Given the description of an element on the screen output the (x, y) to click on. 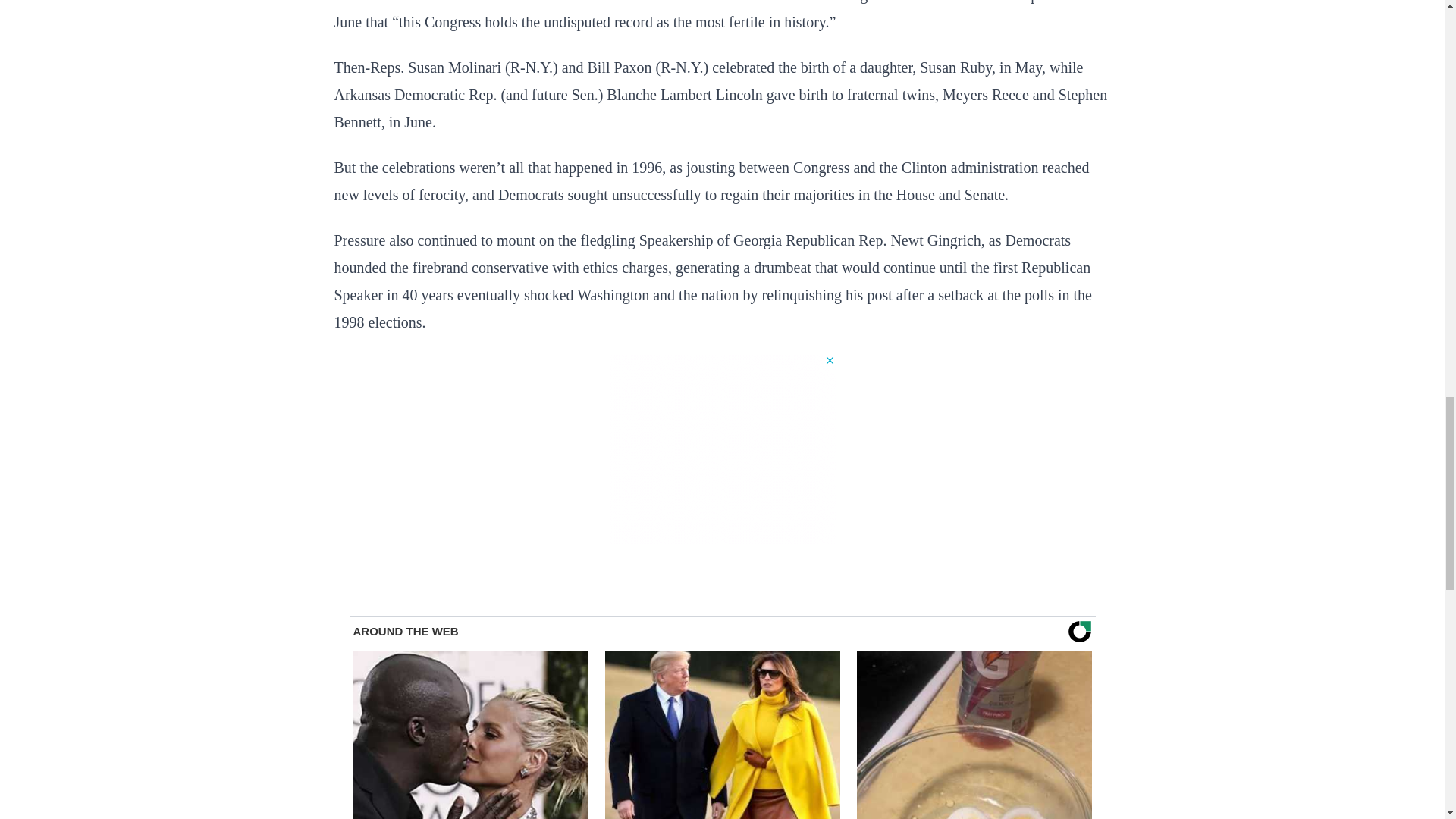
3rd party ad content (721, 448)
